Given the description of an element on the screen output the (x, y) to click on. 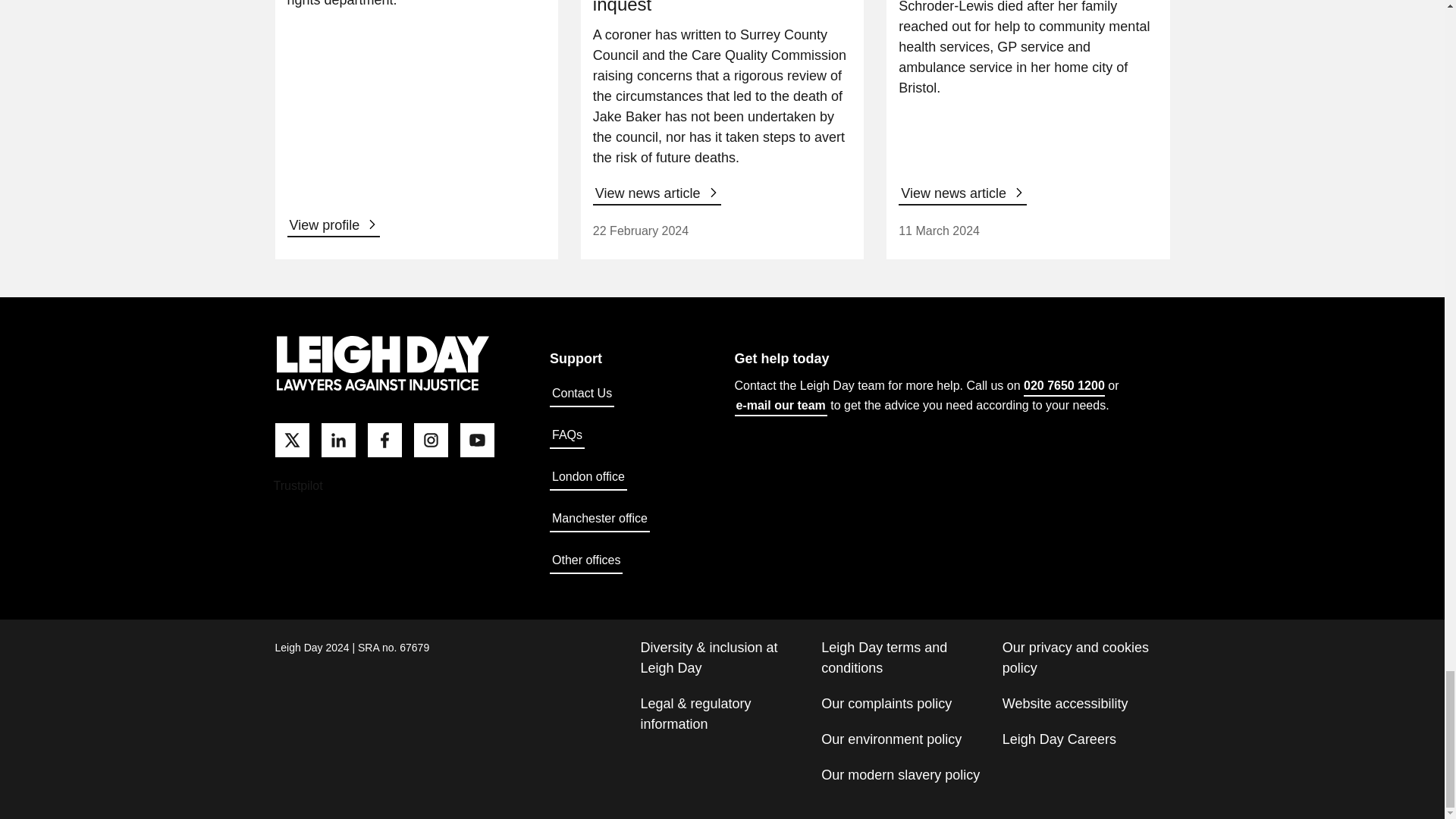
View Anna Moore (333, 226)
View Inquest into the death of Maia Schroder-Lewis, aged 21 (962, 194)
